Given the description of an element on the screen output the (x, y) to click on. 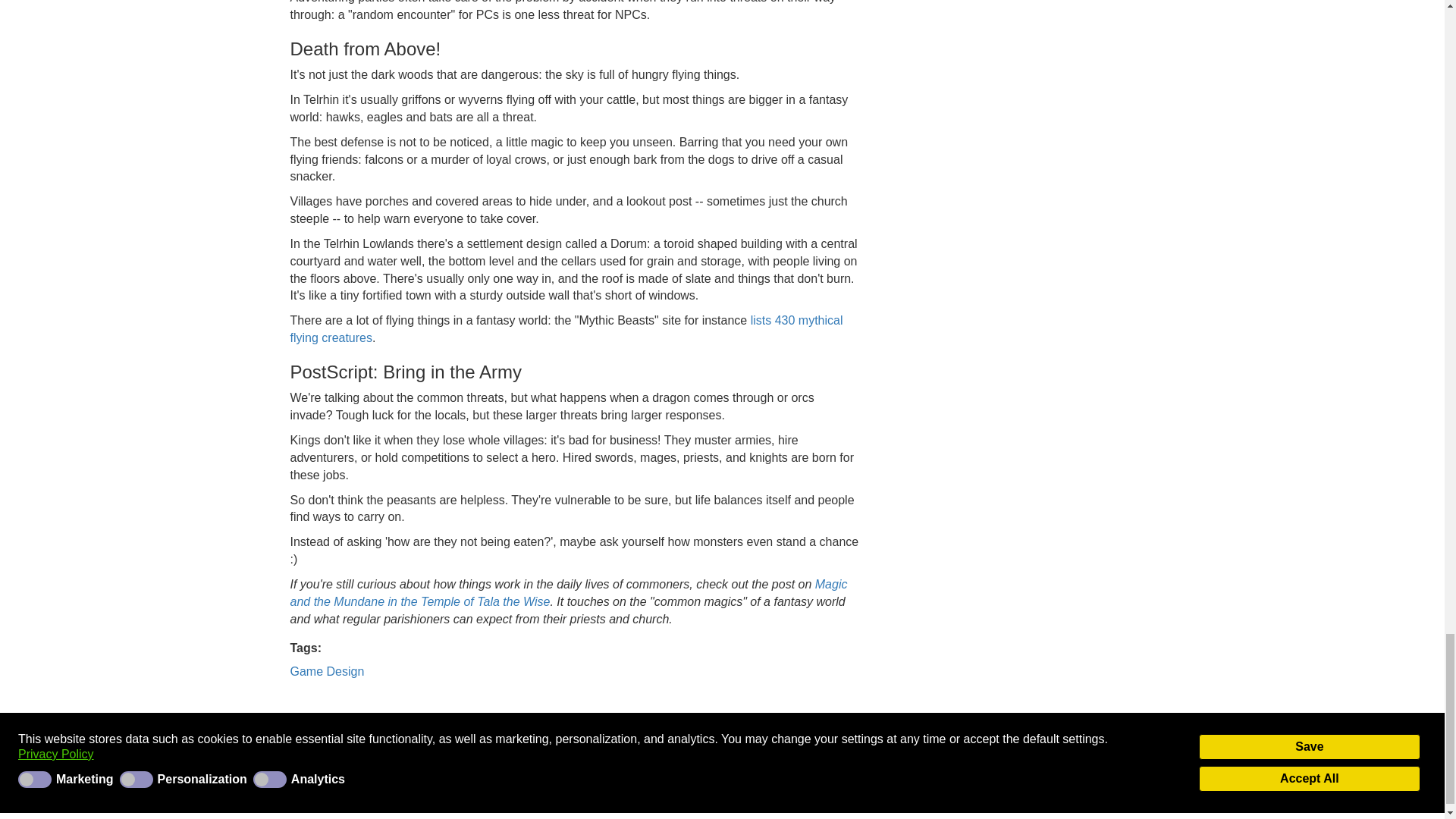
lists 430 mythical flying creatures (566, 328)
StudioZut (480, 790)
Magic and the Mundane in the Temple of Tala the Wise (568, 593)
Game Design (326, 671)
